Given the description of an element on the screen output the (x, y) to click on. 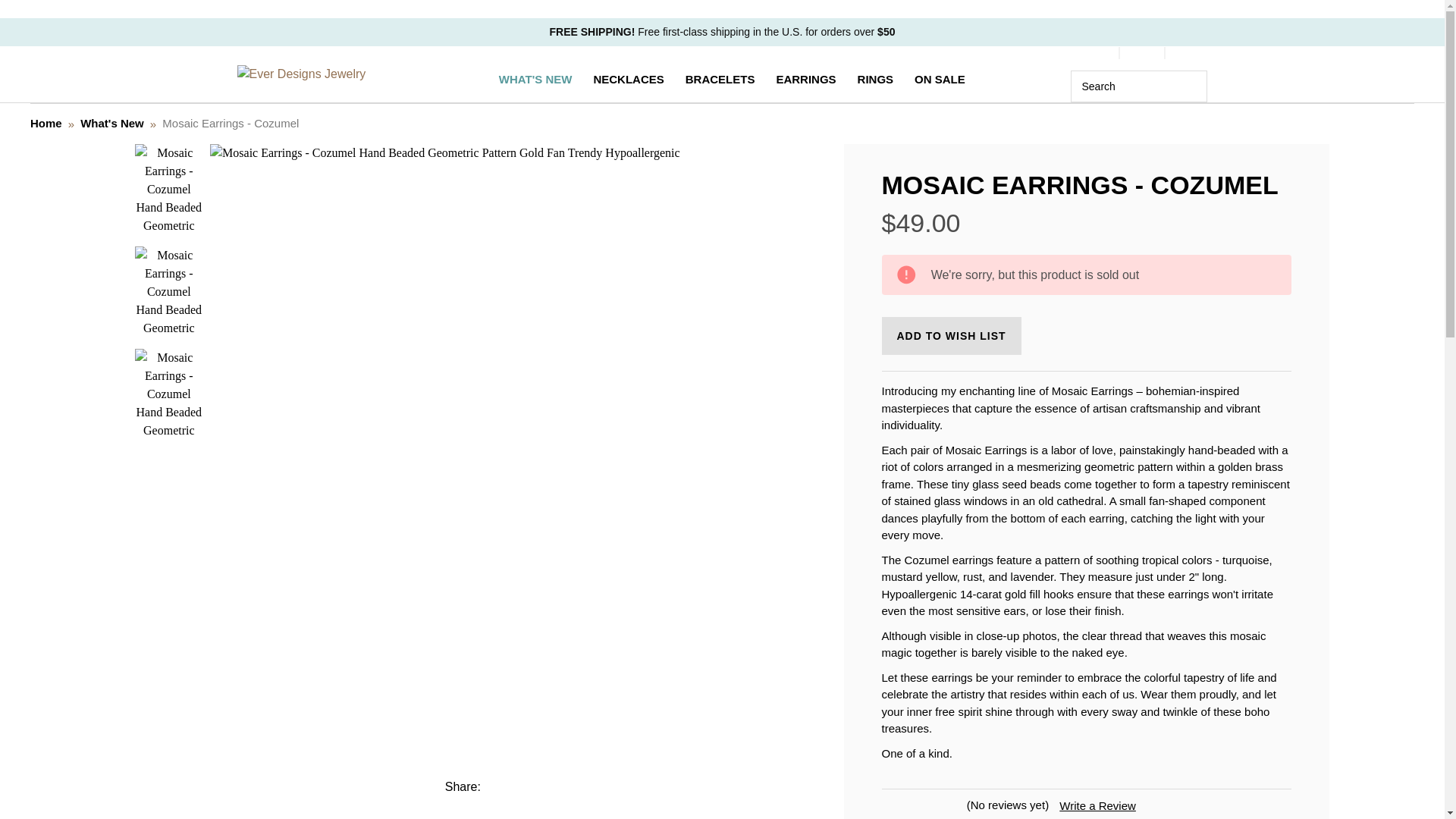
NECKLACES (628, 79)
Print (547, 786)
WHAT'S NEW (535, 79)
Email (523, 786)
Ever Designs Jewelry (300, 74)
Facebook (497, 786)
